Given the description of an element on the screen output the (x, y) to click on. 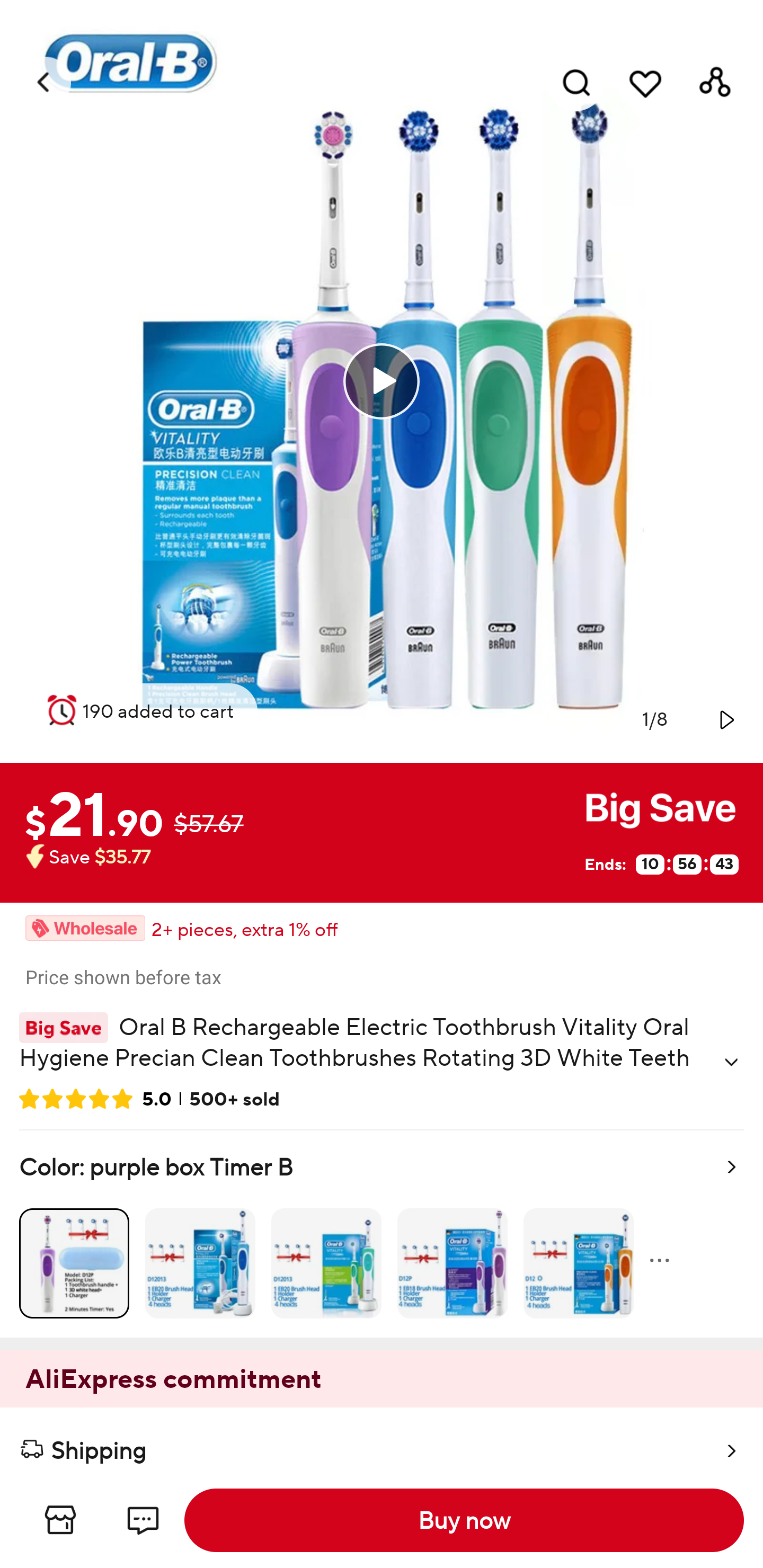
0.0 (381, 381)
Navigate up (44, 82)
 (724, 719)
 (730, 1061)
Color: purple box Timer B  (381, 1233)
Shipping  (381, 1441)
Buy now (463, 1520)
